Given the description of an element on the screen output the (x, y) to click on. 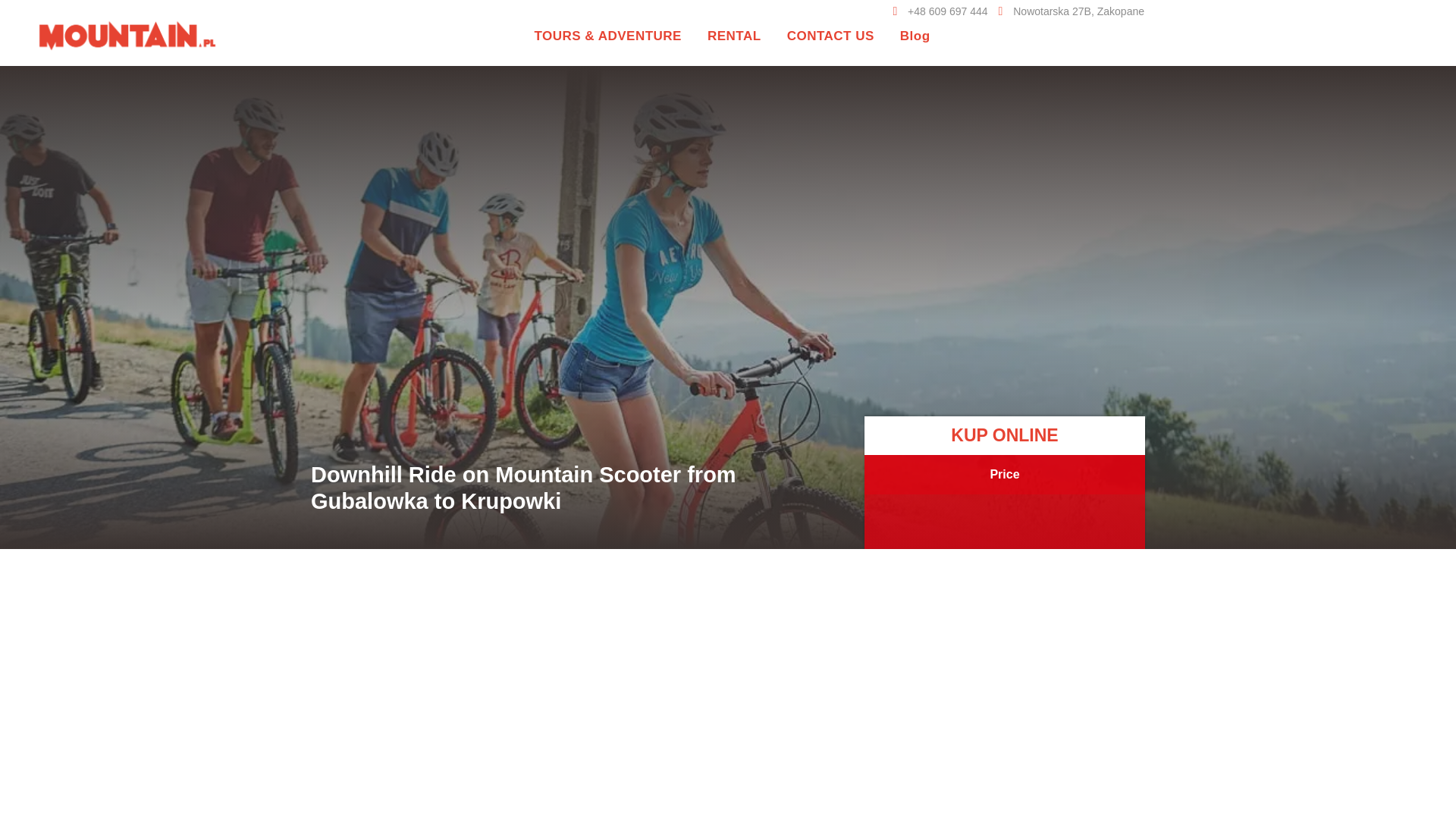
RENTAL (734, 36)
Blog (914, 36)
CONTACT US (831, 36)
